Given the description of an element on the screen output the (x, y) to click on. 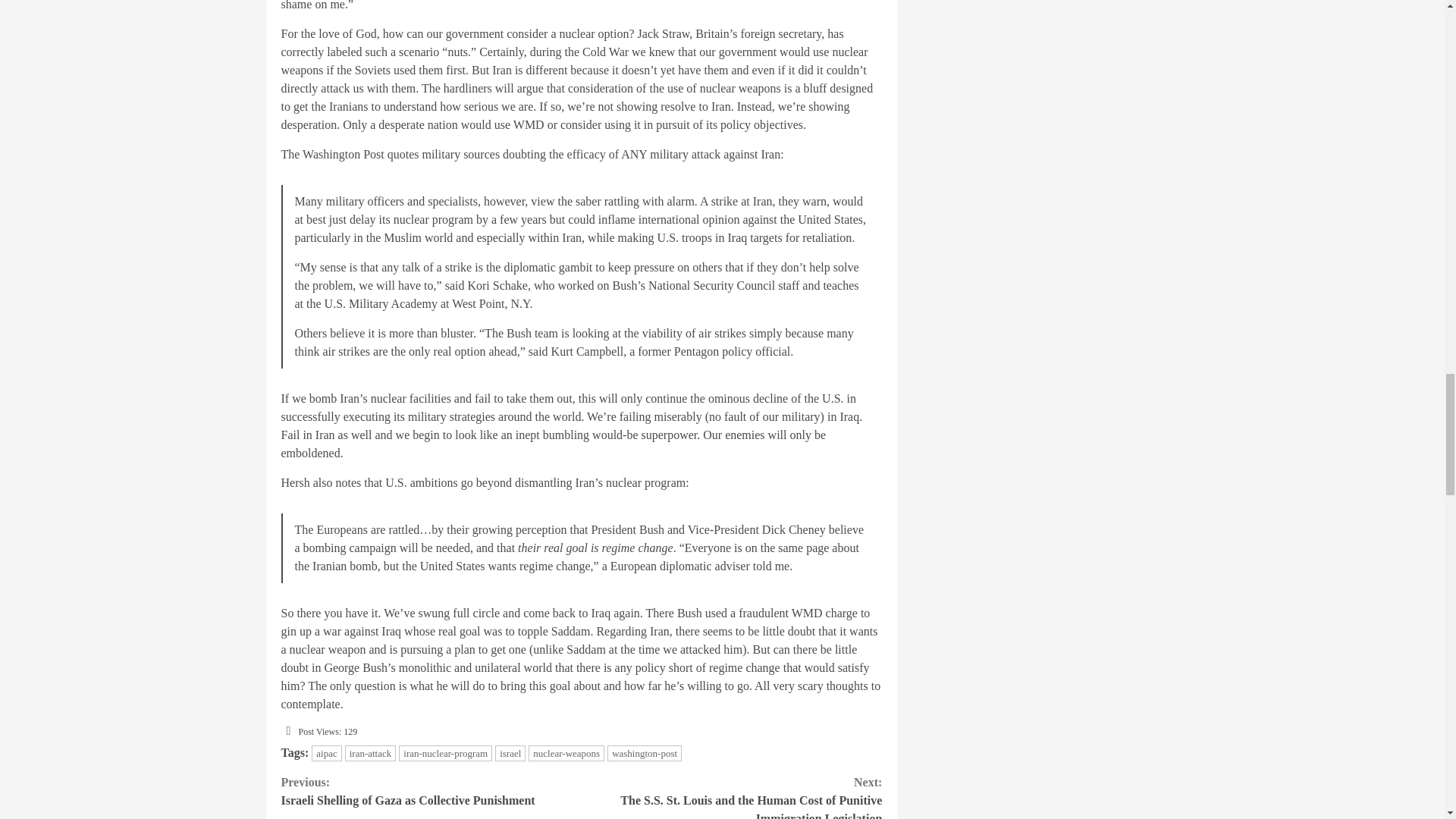
iran-nuclear-program (445, 753)
aipac (325, 753)
israel (430, 791)
iran-attack (510, 753)
nuclear-weapons (370, 753)
washington-post (566, 753)
